Given the description of an element on the screen output the (x, y) to click on. 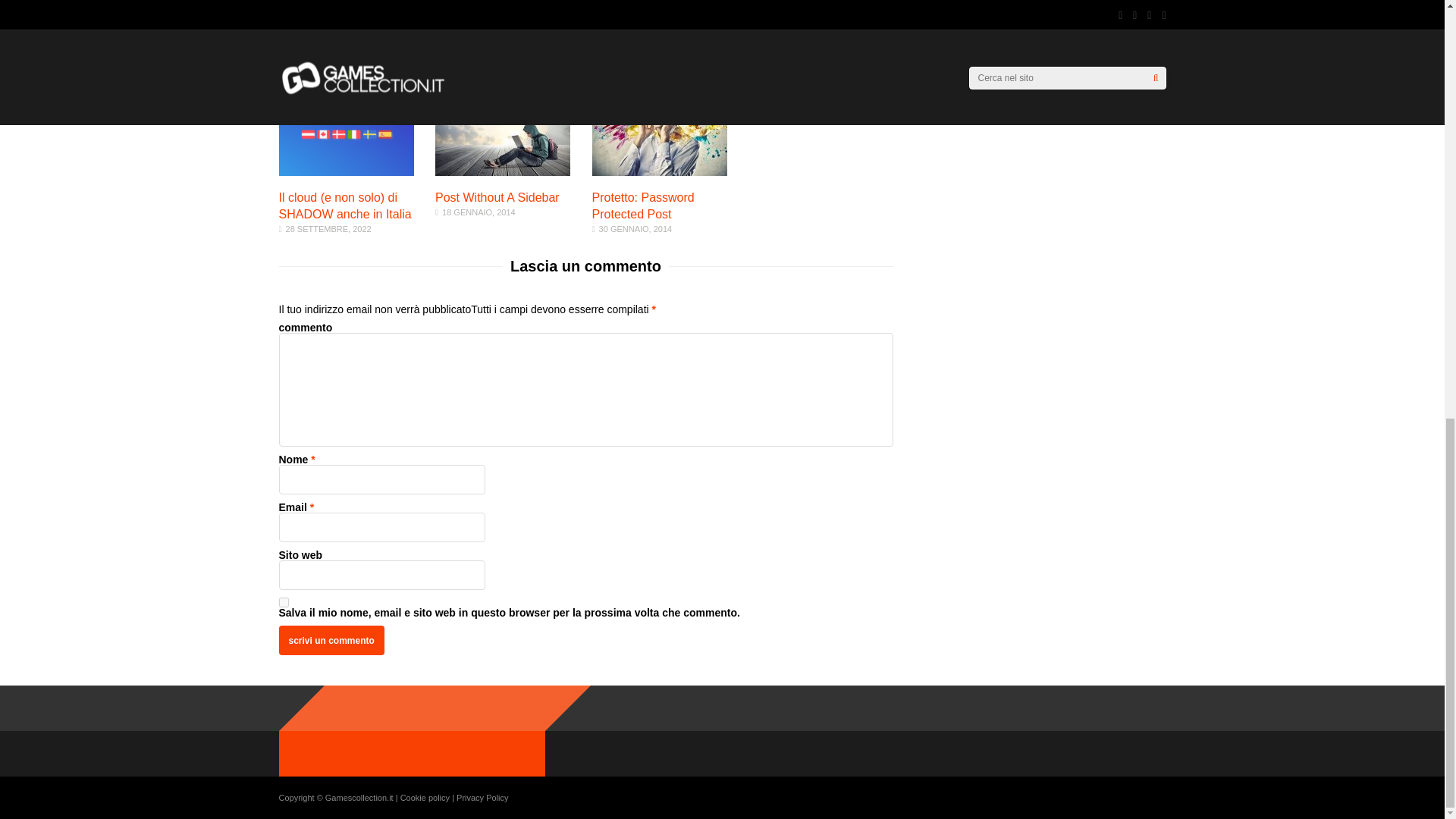
Post Without A Sidebar (497, 196)
yes (283, 602)
Post Without A Sidebar (502, 172)
Post Without A Sidebar (497, 196)
Protetto: Password Protected Post (331, 640)
Protetto: Password Protected Post (331, 640)
Protetto: Password Protected Post (659, 172)
